Given the description of an element on the screen output the (x, y) to click on. 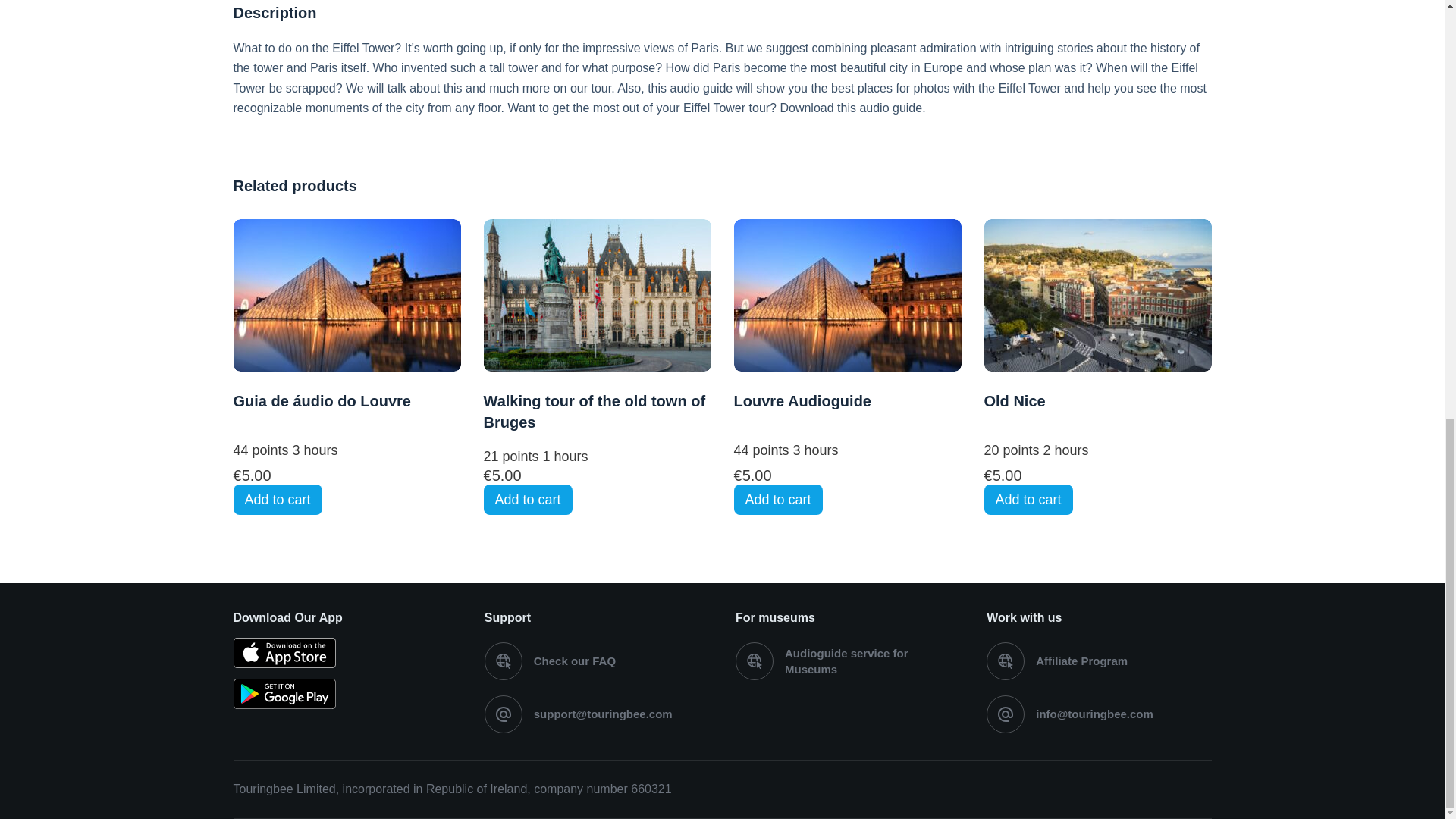
Add to cart (527, 499)
Add to cart (597, 342)
